Given the description of an element on the screen output the (x, y) to click on. 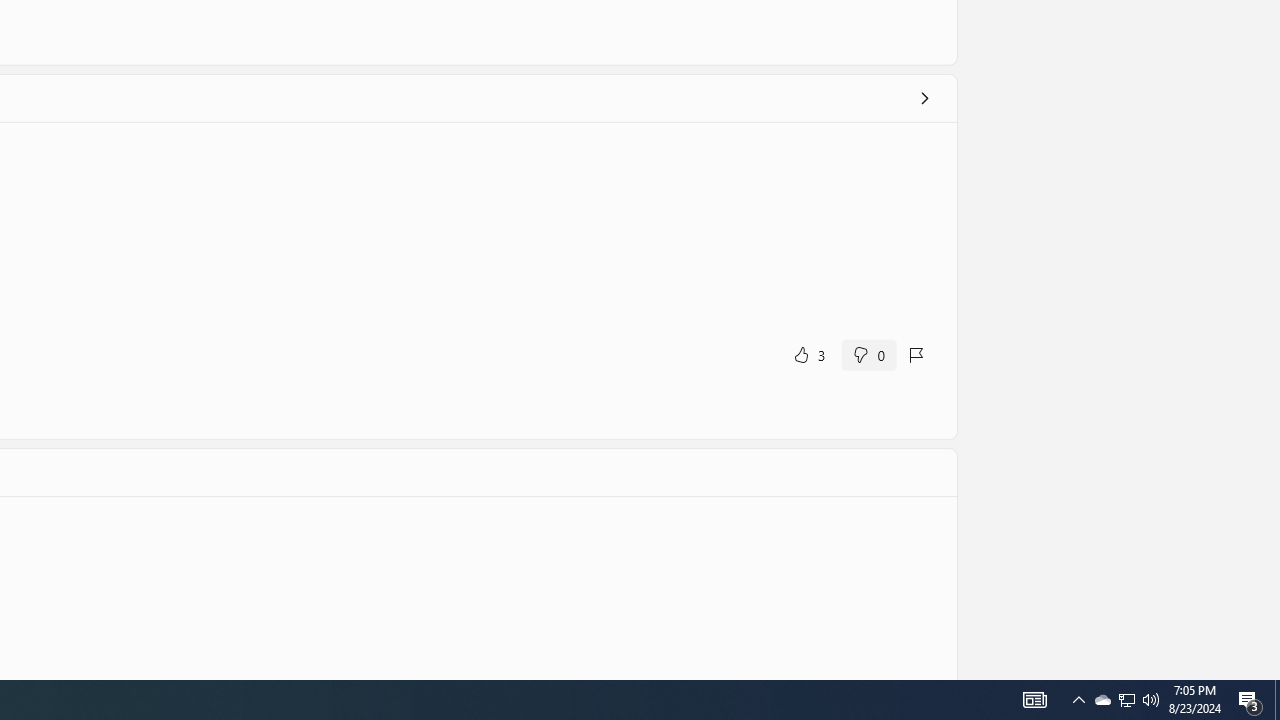
Show all ratings and reviews (924, 97)
Report review (917, 354)
Yes, this was helpful. 3 votes. (807, 354)
No, this was not helpful. 0 votes. (868, 354)
